Given the description of an element on the screen output the (x, y) to click on. 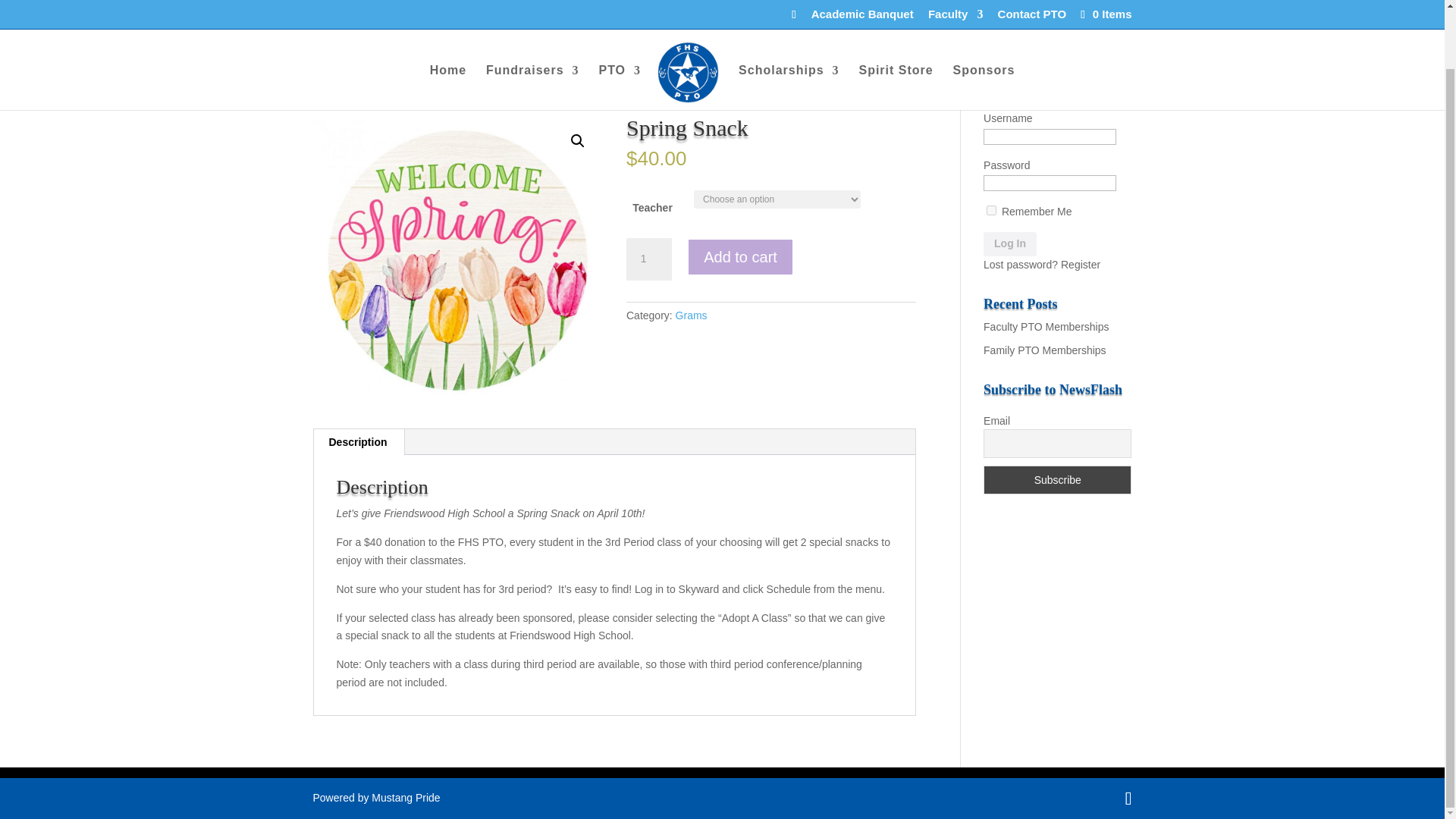
Register (1080, 264)
Fundraisers (532, 23)
1 (648, 259)
Sponsors (983, 23)
forever (991, 210)
Scholarships (788, 23)
PTO (619, 23)
Subscribe (1057, 480)
Spirit Store (896, 23)
Log In (1010, 243)
spring (457, 261)
